Given the description of an element on the screen output the (x, y) to click on. 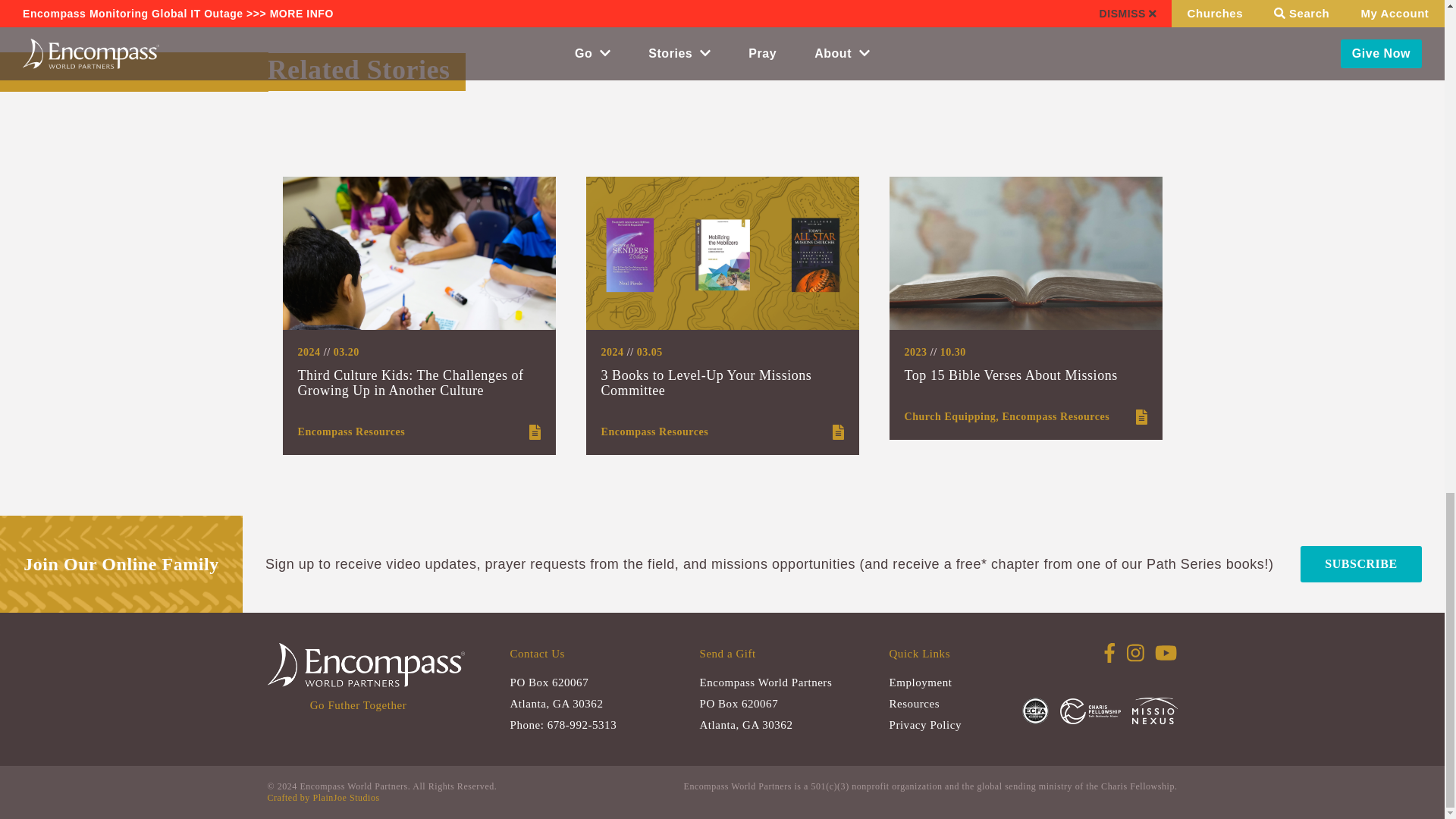
Top 15 Bible Verses About Missions (1010, 375)
3 Books to Level-Up Your Missions Committee (704, 382)
